Given the description of an element on the screen output the (x, y) to click on. 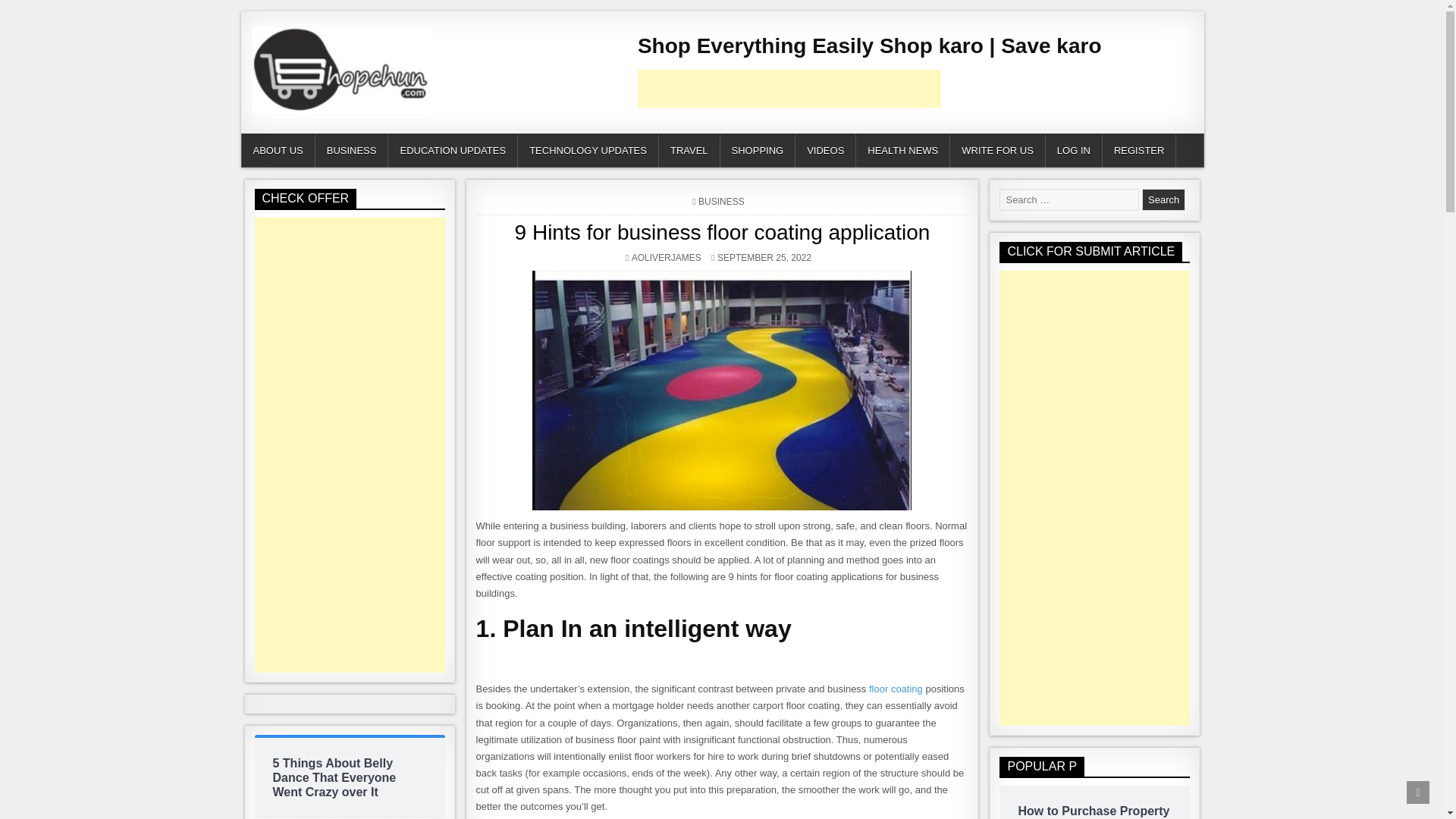
SHOPPING (758, 150)
Scroll to Top (1417, 792)
ABOUT US (277, 150)
LOG IN (1073, 150)
HEALTH NEWS (666, 257)
5 Things About Belly Dance That Everyone Went Crazy over It (903, 150)
floor coating (349, 777)
BUSINESS (896, 688)
Search (721, 201)
